Given the description of an element on the screen output the (x, y) to click on. 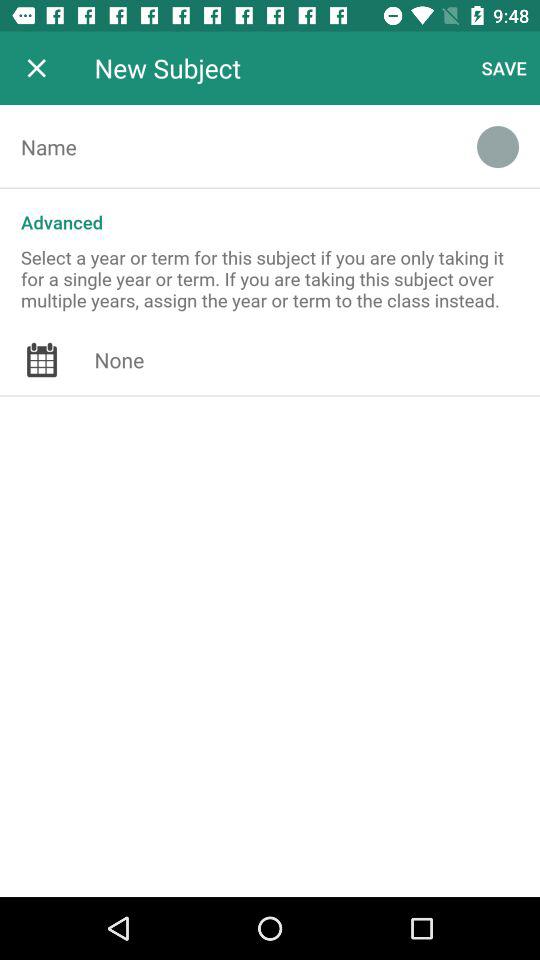
flip to the save item (504, 68)
